Given the description of an element on the screen output the (x, y) to click on. 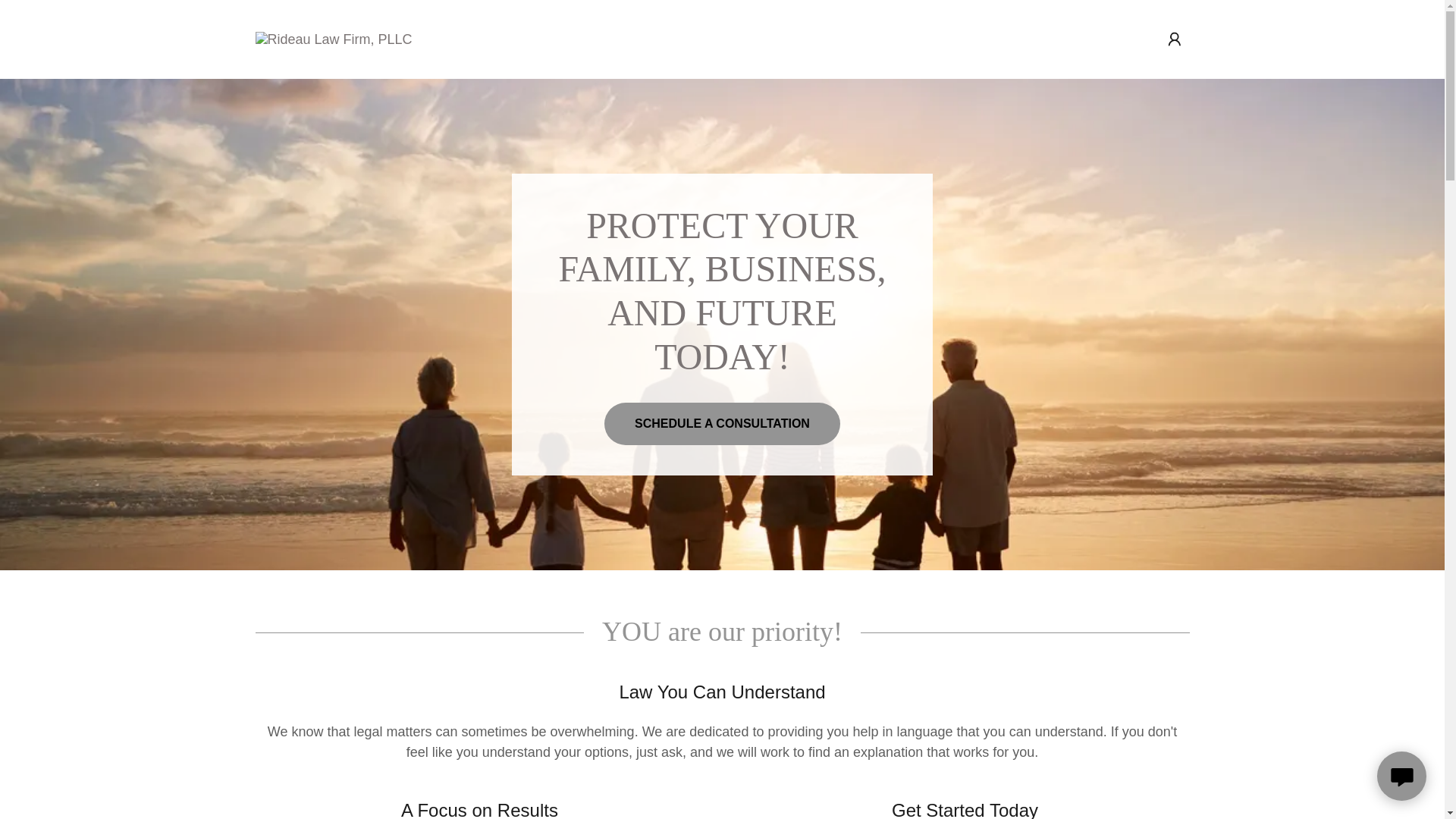
SCHEDULE A CONSULTATION (722, 423)
Rideau Law Firm, PLLC (333, 38)
